Given the description of an element on the screen output the (x, y) to click on. 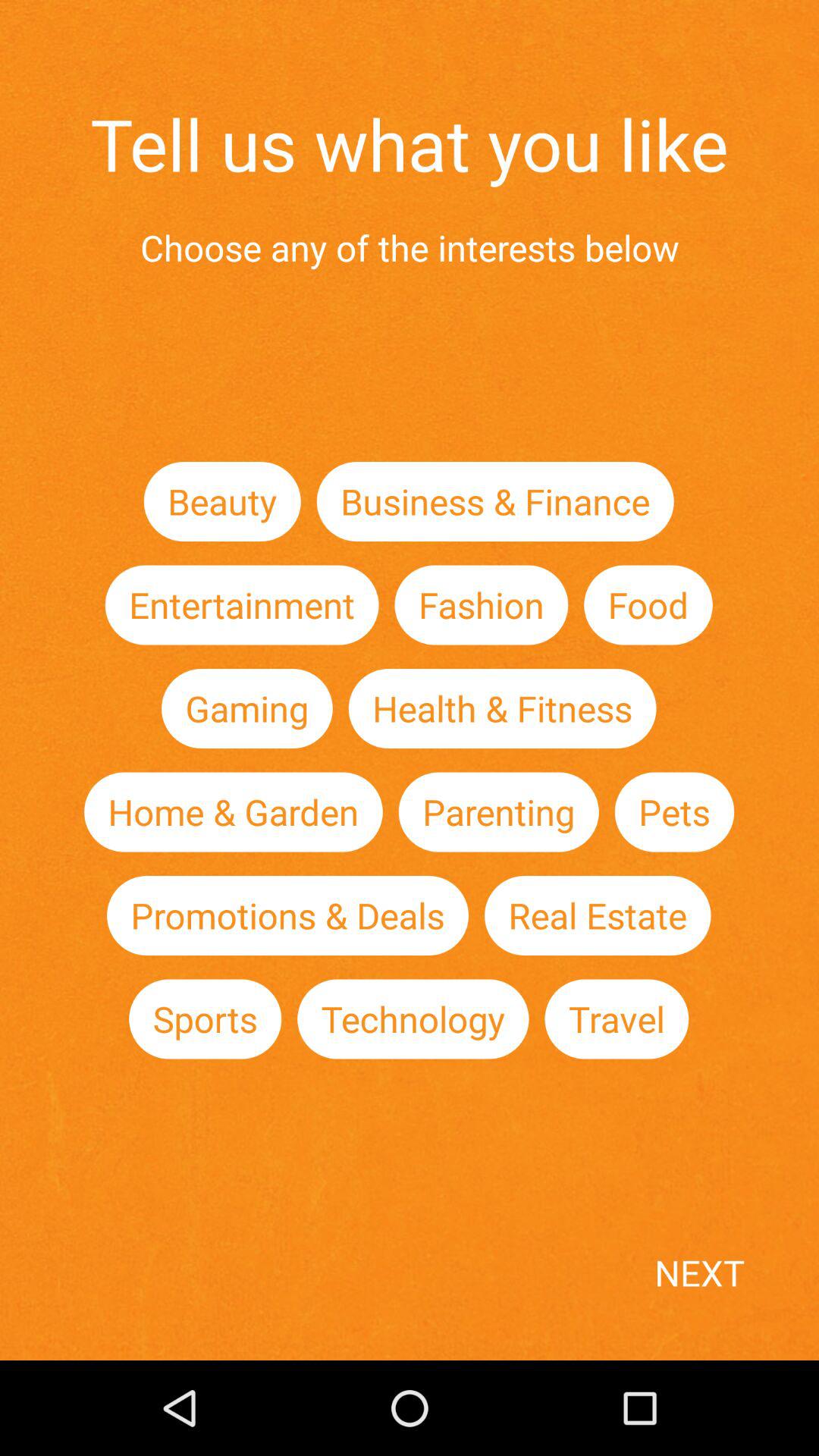
tap the business & finance (494, 501)
